Given the description of an element on the screen output the (x, y) to click on. 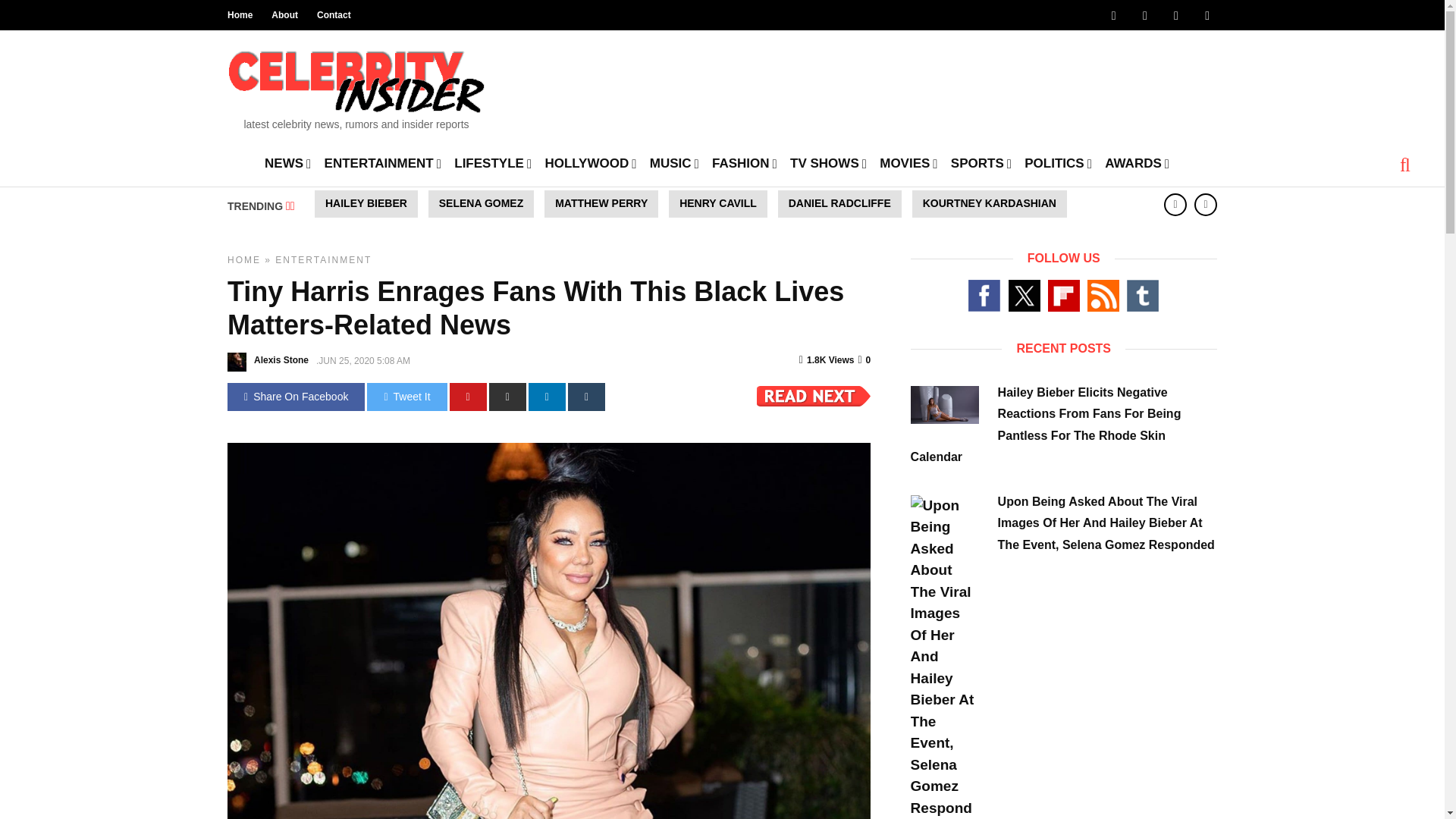
FASHION (744, 162)
Share On Reddit (507, 397)
AWARDS (1136, 162)
HOLLYWOOD (590, 162)
DANIEL RADCLIFFE (839, 203)
Share On Facebook (296, 397)
SELENA GOMEZ (481, 203)
About (284, 14)
POLITICS (1058, 162)
LIFESTYLE (492, 162)
